Given the description of an element on the screen output the (x, y) to click on. 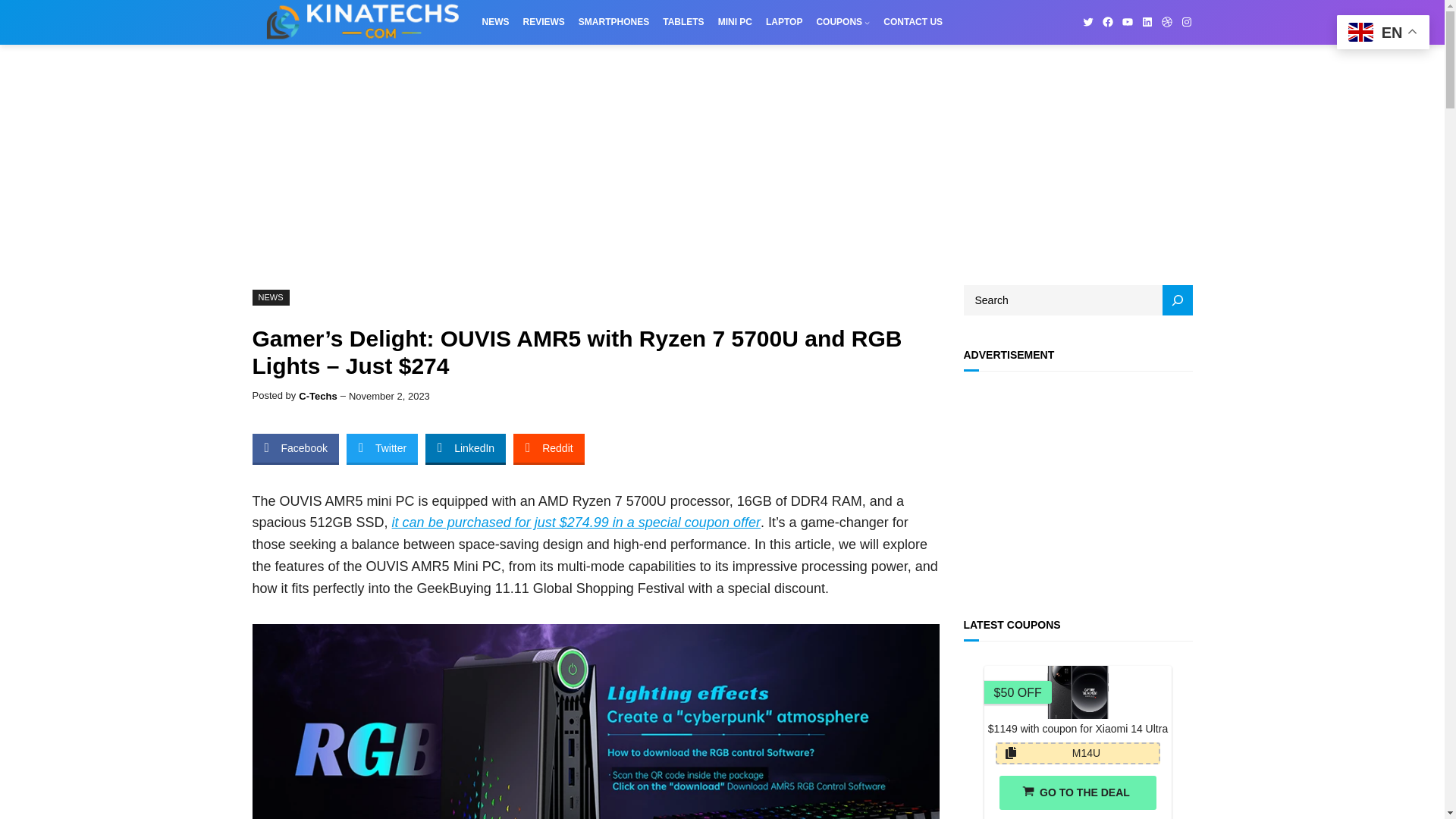
Twitter (381, 448)
TABLETS (682, 22)
Laptop (783, 22)
SMARTPHONES (613, 22)
Instagram (1185, 21)
NEWS (495, 22)
Reddit (548, 448)
LAPTOP (783, 22)
Advertisement (1077, 490)
Facebook (294, 448)
MINI PC (734, 22)
Go to the deal (1077, 792)
YouTube (1126, 21)
REVIEWS (543, 22)
